Given the description of an element on the screen output the (x, y) to click on. 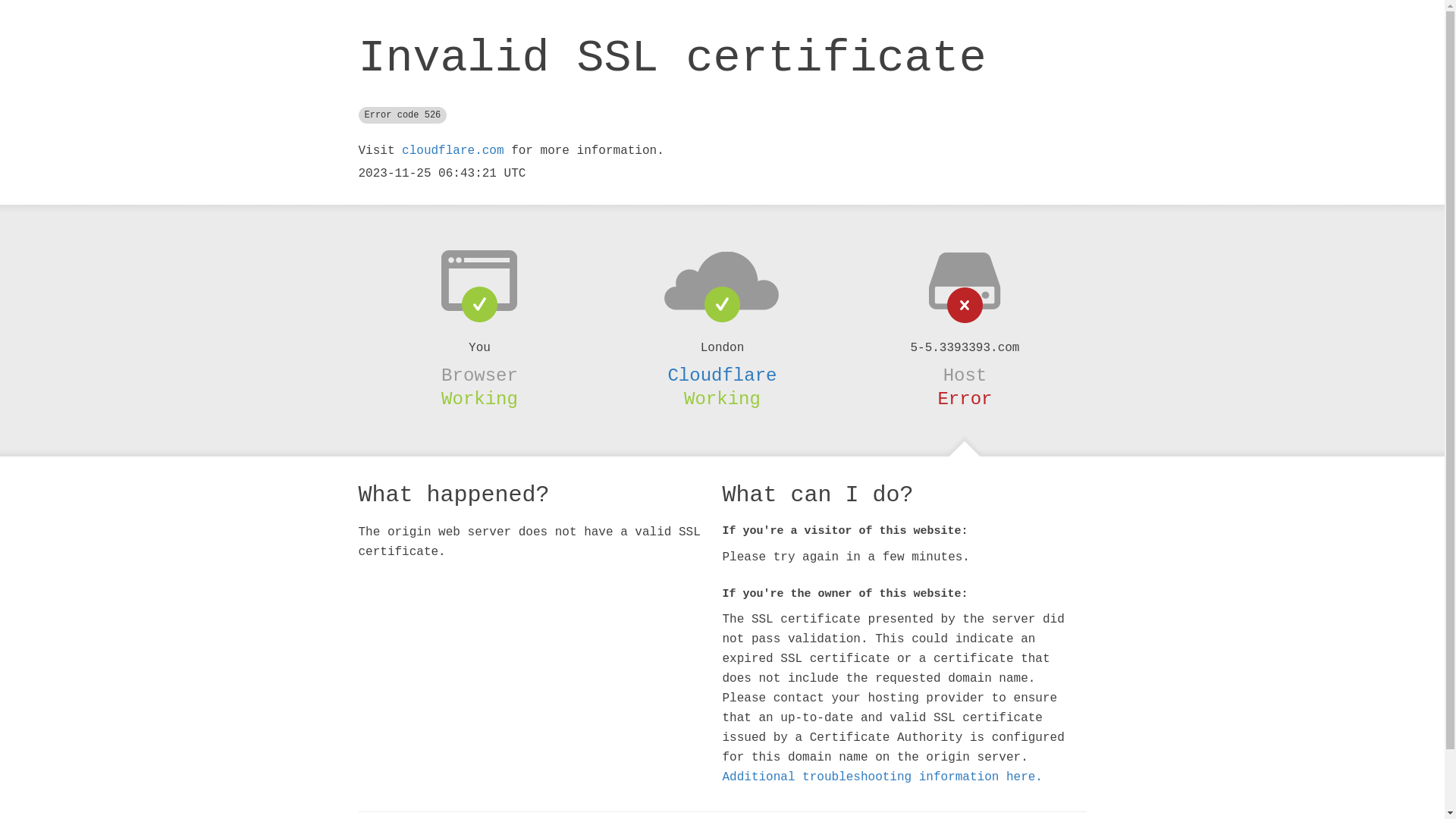
Cloudflare Element type: text (721, 375)
cloudflare.com Element type: text (452, 150)
Additional troubleshooting information here. Element type: text (881, 777)
